Given the description of an element on the screen output the (x, y) to click on. 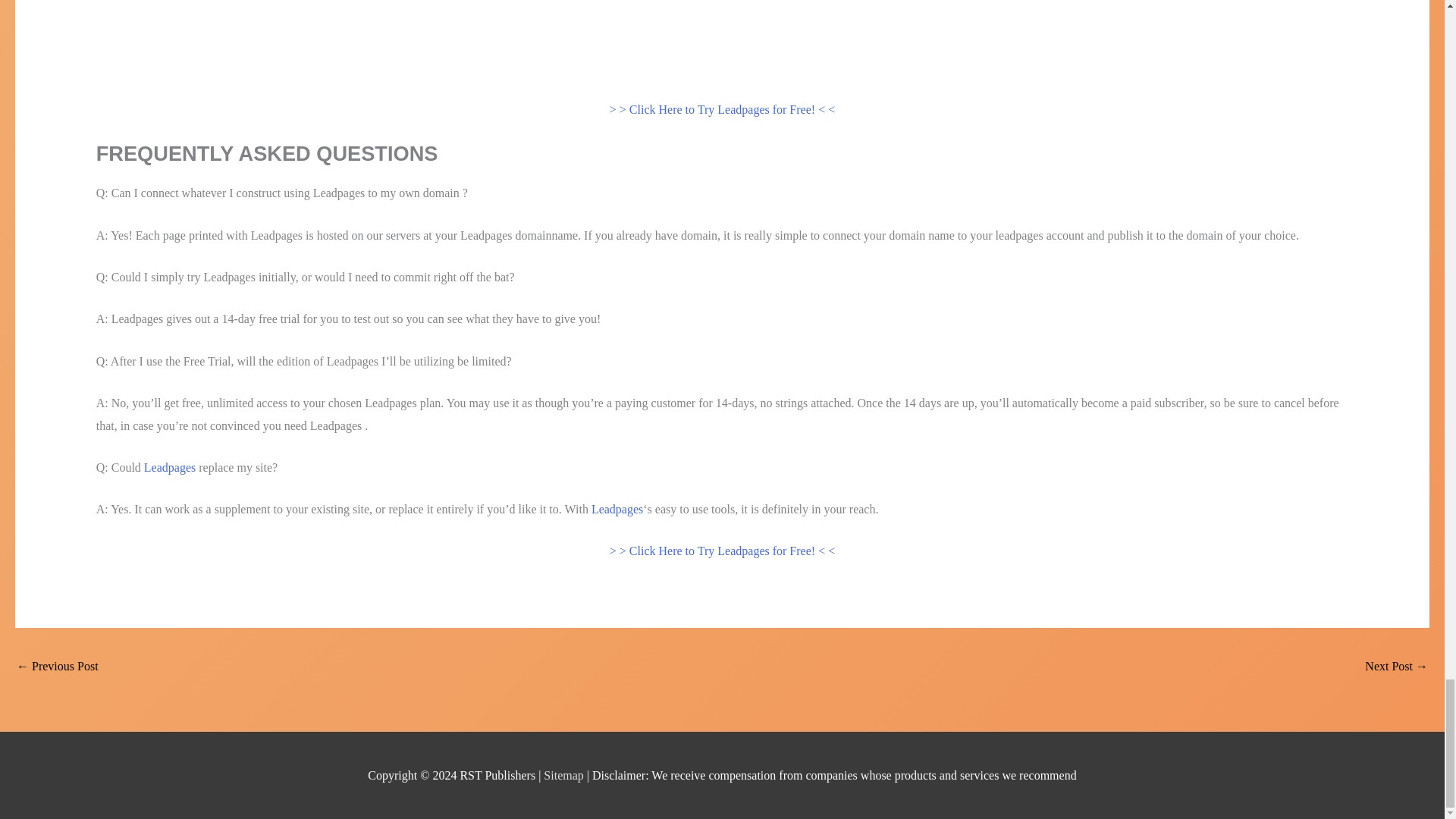
Leadpages (169, 467)
Sitemap (564, 775)
How to Add a Video to Leadpages (57, 667)
Leadpages (617, 508)
Thank You Page Examples Leadpages (1396, 667)
